Given the description of an element on the screen output the (x, y) to click on. 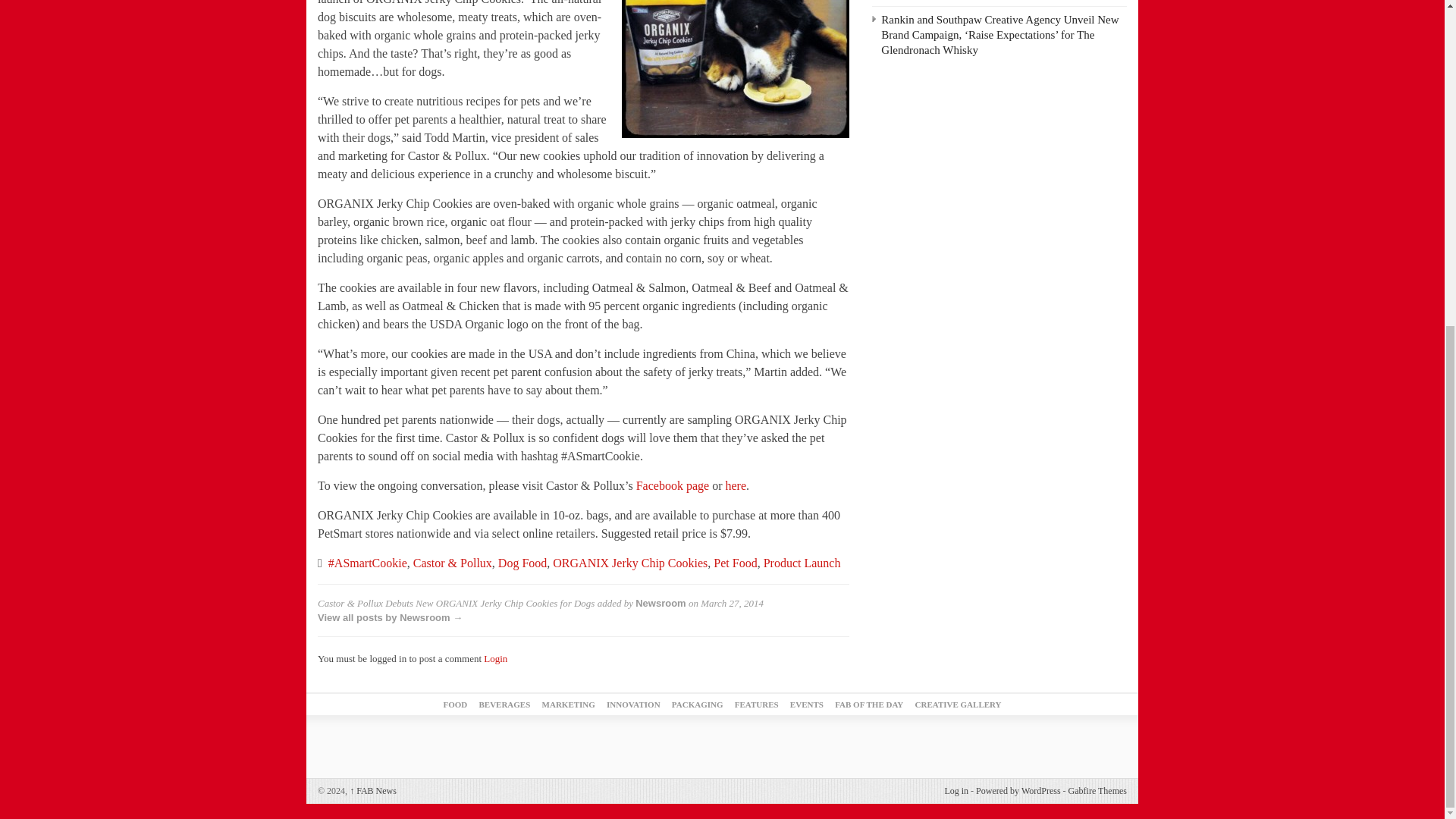
Newsroom (659, 603)
ORGANIX Jerky Chip Cookies (630, 562)
BEVERAGES (504, 704)
Pet Food (735, 562)
Login (494, 658)
WordPress Newspaper Themes (1097, 790)
FAB News (372, 790)
Product Launch (801, 562)
FOOD (454, 704)
Semantic Personal Publishing Platform (1017, 790)
Dog Food (522, 562)
here (735, 485)
MARKETING (568, 704)
Facebook page (672, 485)
